Given the description of an element on the screen output the (x, y) to click on. 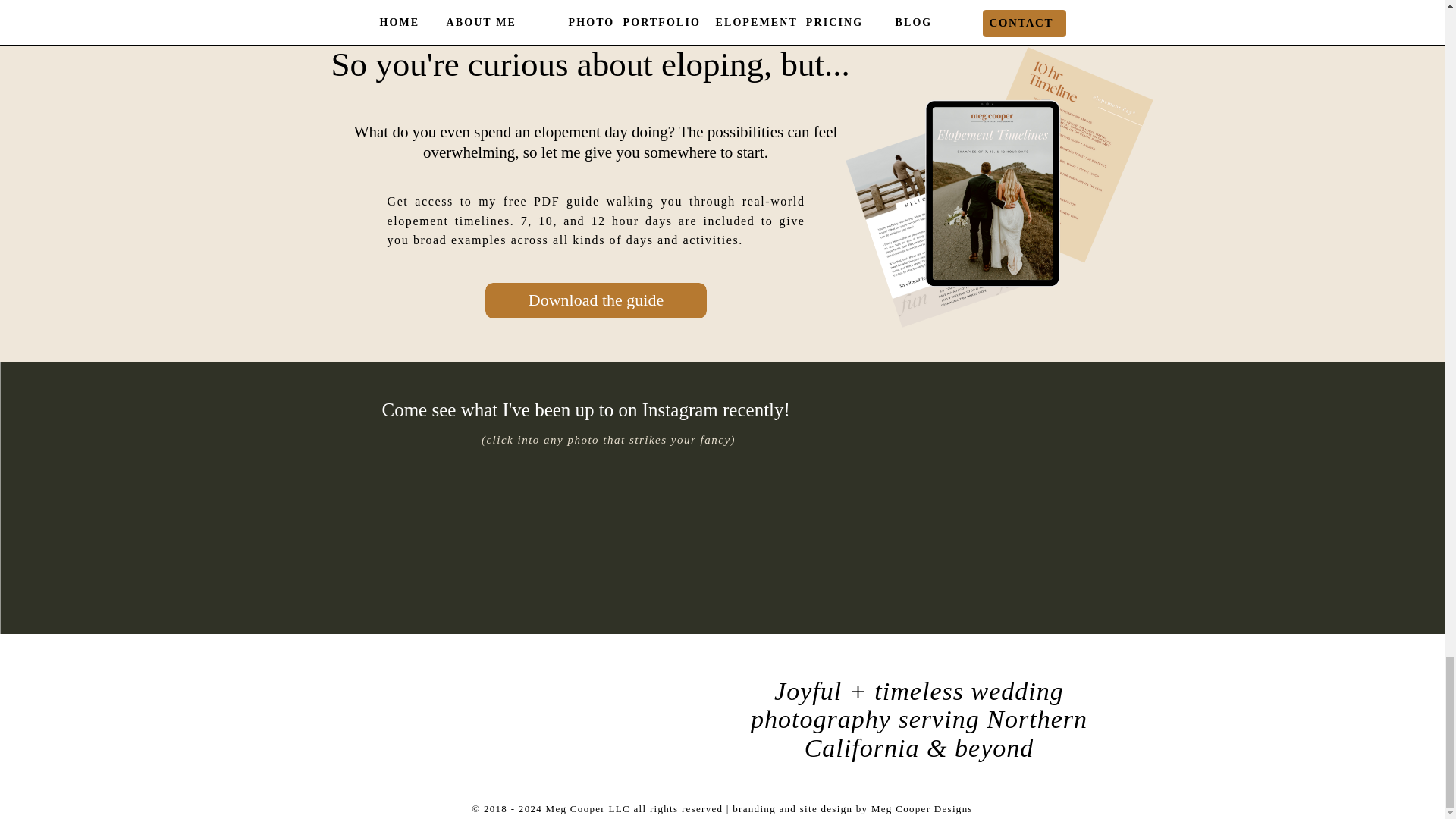
Download the guide (595, 299)
